Given the description of an element on the screen output the (x, y) to click on. 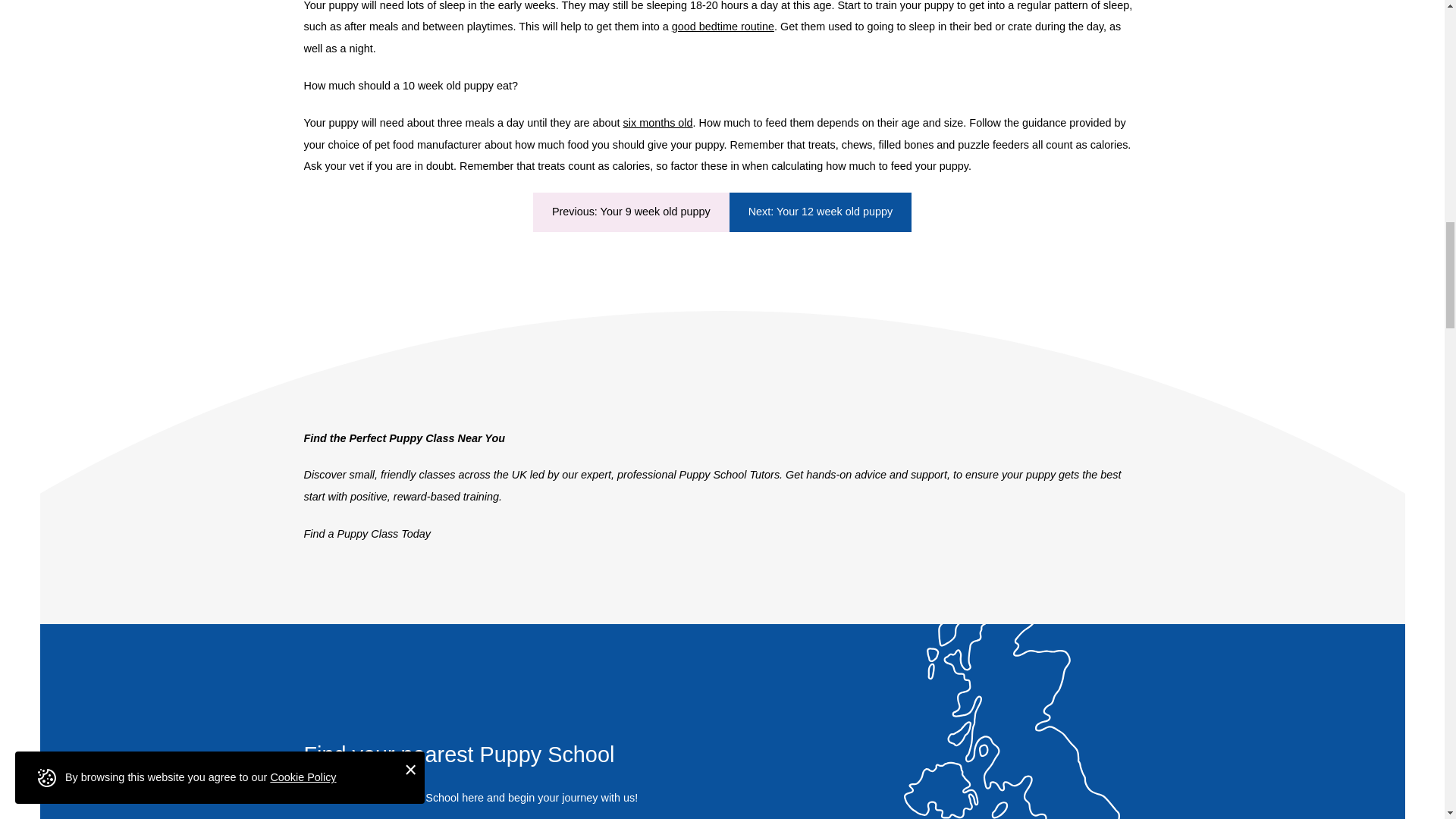
six months old (658, 122)
Next: Your 12 week old puppy (820, 211)
Your 9 week old puppy (630, 211)
Previous: Your 9 week old puppy (630, 211)
how to get puppies to sleep (722, 26)
Your 12 week old puppy (820, 211)
good bedtime routine (722, 26)
your 6 month old puppy (658, 122)
